Given the description of an element on the screen output the (x, y) to click on. 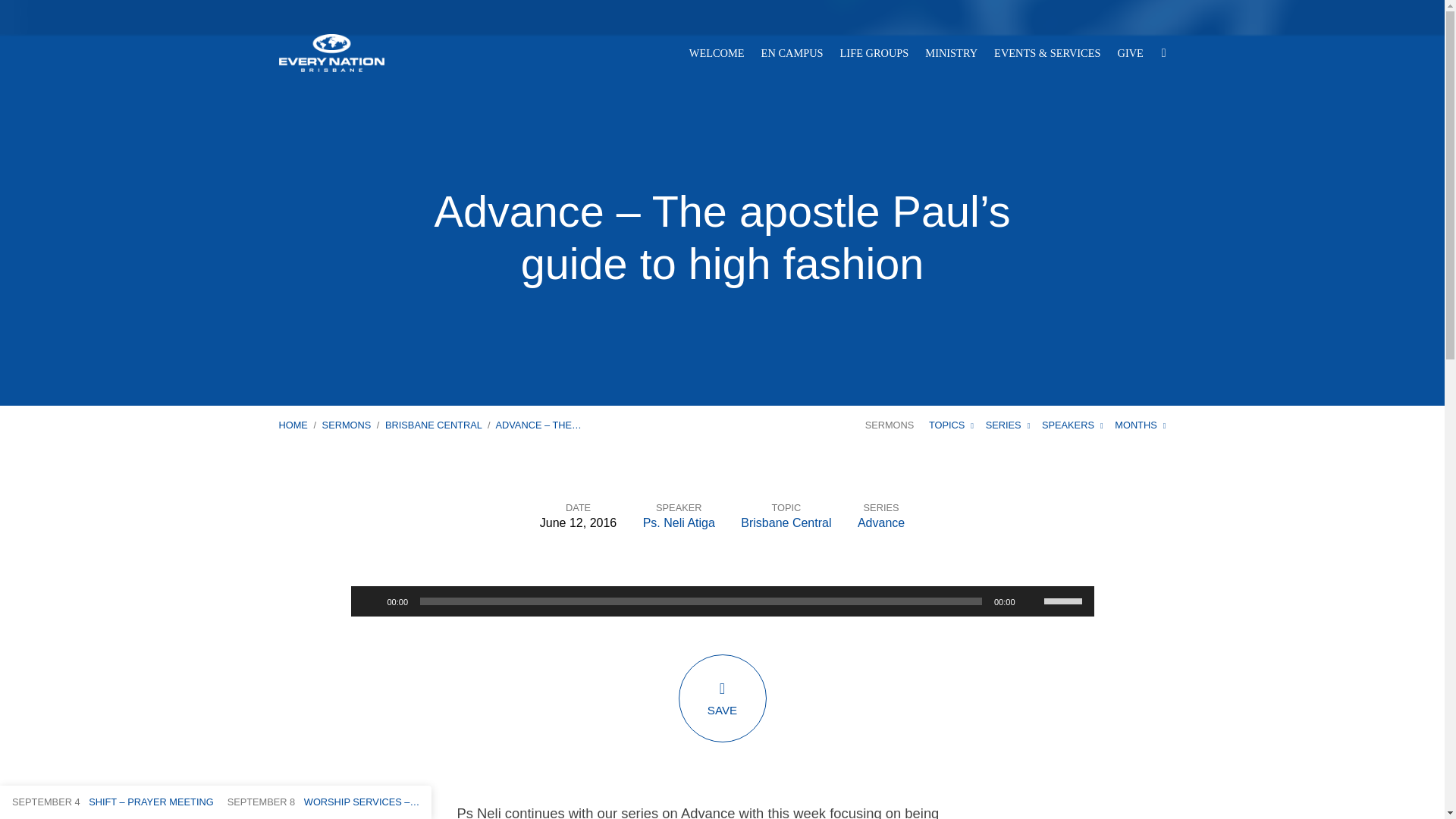
HOME (293, 424)
TOPICS (951, 424)
SERIES (1007, 424)
EN CAMPUS (792, 52)
Play (369, 601)
SERMONS (346, 424)
BRISBANE CENTRAL (433, 424)
LIFE GROUPS (874, 52)
Mute (1031, 601)
GIVE (1129, 52)
